Given the description of an element on the screen output the (x, y) to click on. 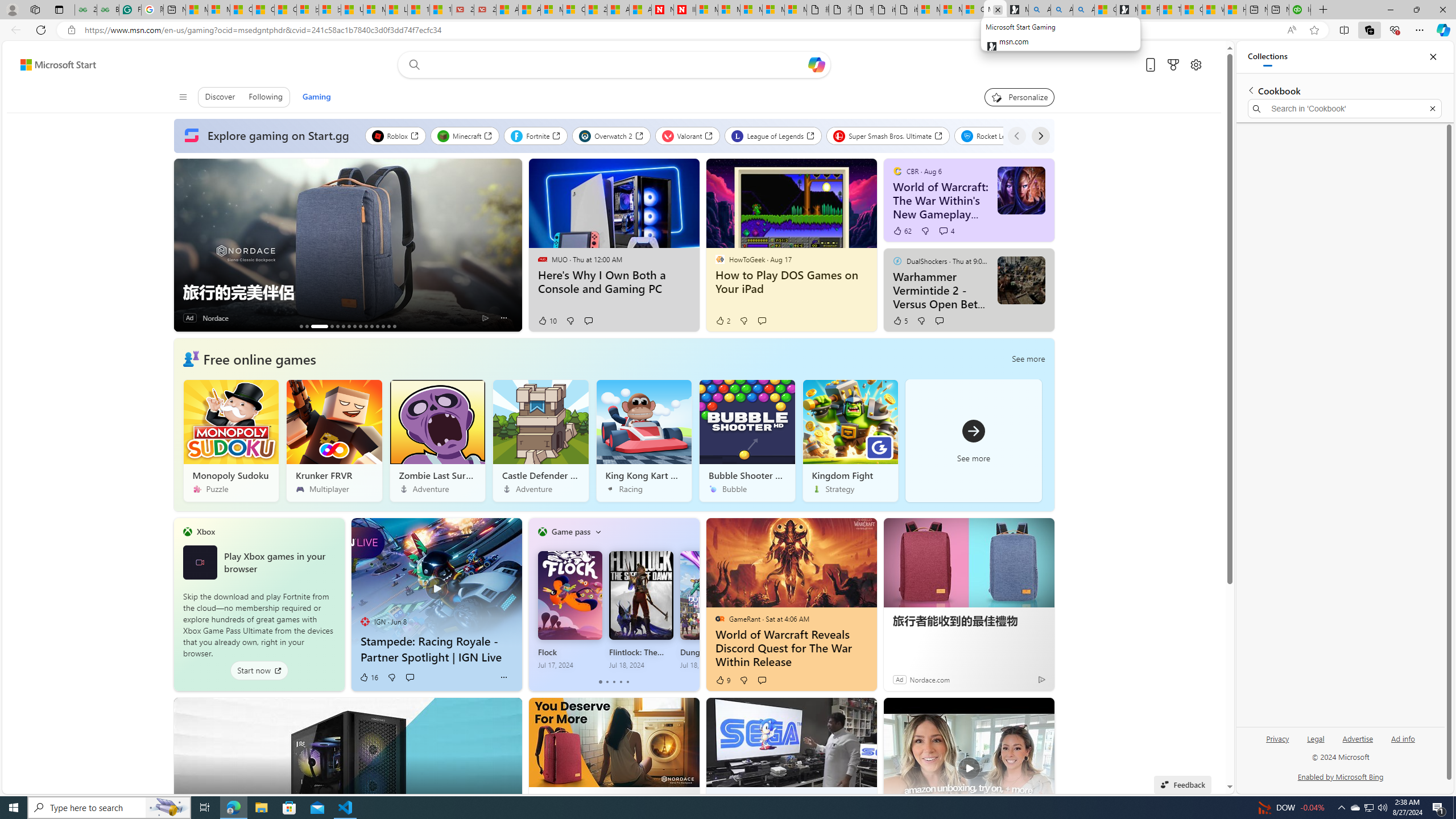
Flintlock: The Siege of Dawn Jul 18, 2024 (640, 610)
AutomationID: tab_nativead-resinfopane-6 (342, 326)
The Rarest N64 Games (& How Much They're Worth) (382, 326)
Dungeons Of Hinterberg Jul 18, 2024 (711, 610)
5 Like (900, 320)
10 Like (547, 320)
Minecraft (464, 135)
tab-0 (600, 682)
HowToGeek (719, 258)
How Shein Is Revolutionizing The Fashion Industry? (306, 326)
tab-2 (613, 682)
